Given the description of an element on the screen output the (x, y) to click on. 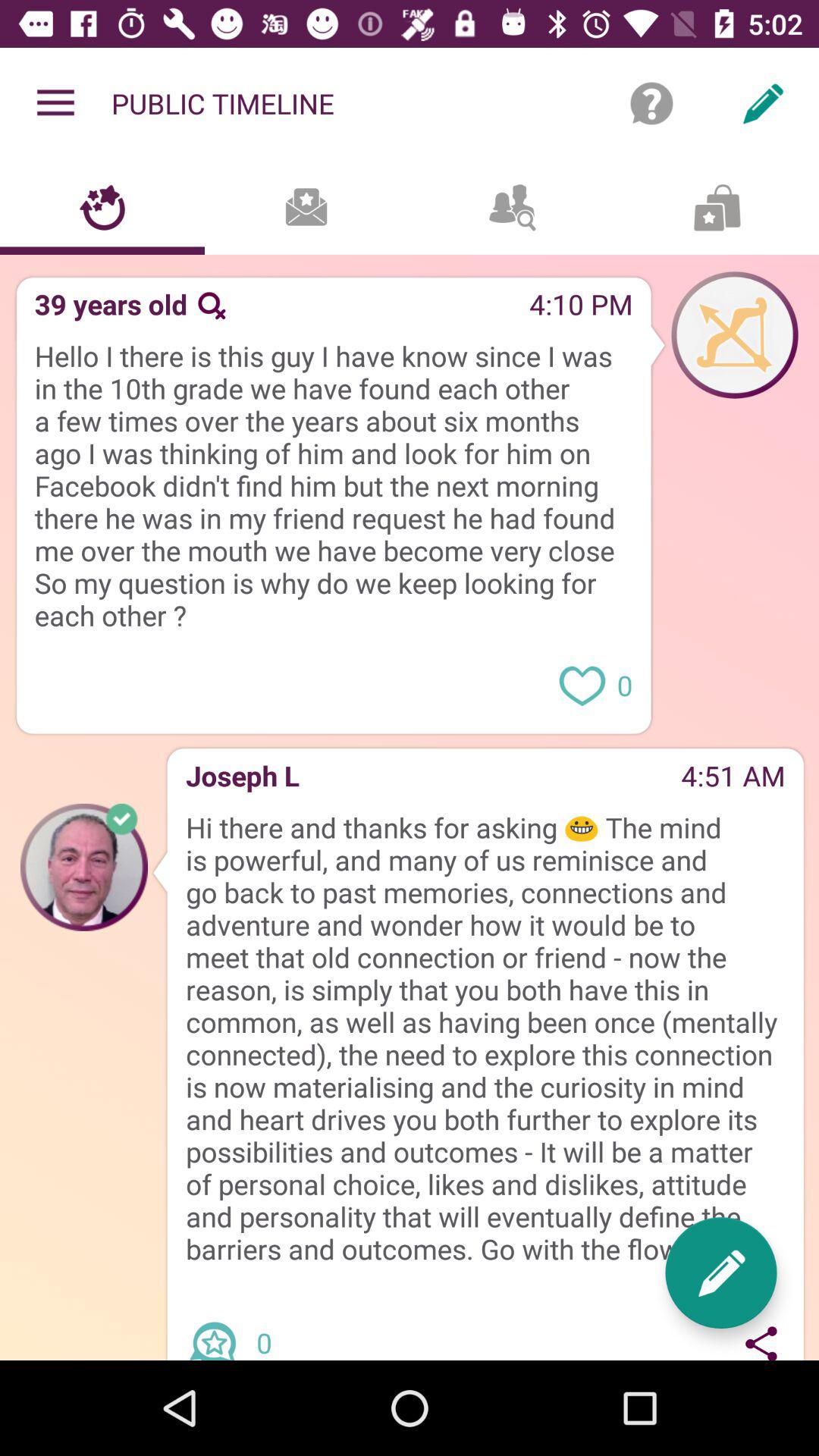
picture (83, 867)
